Given the description of an element on the screen output the (x, y) to click on. 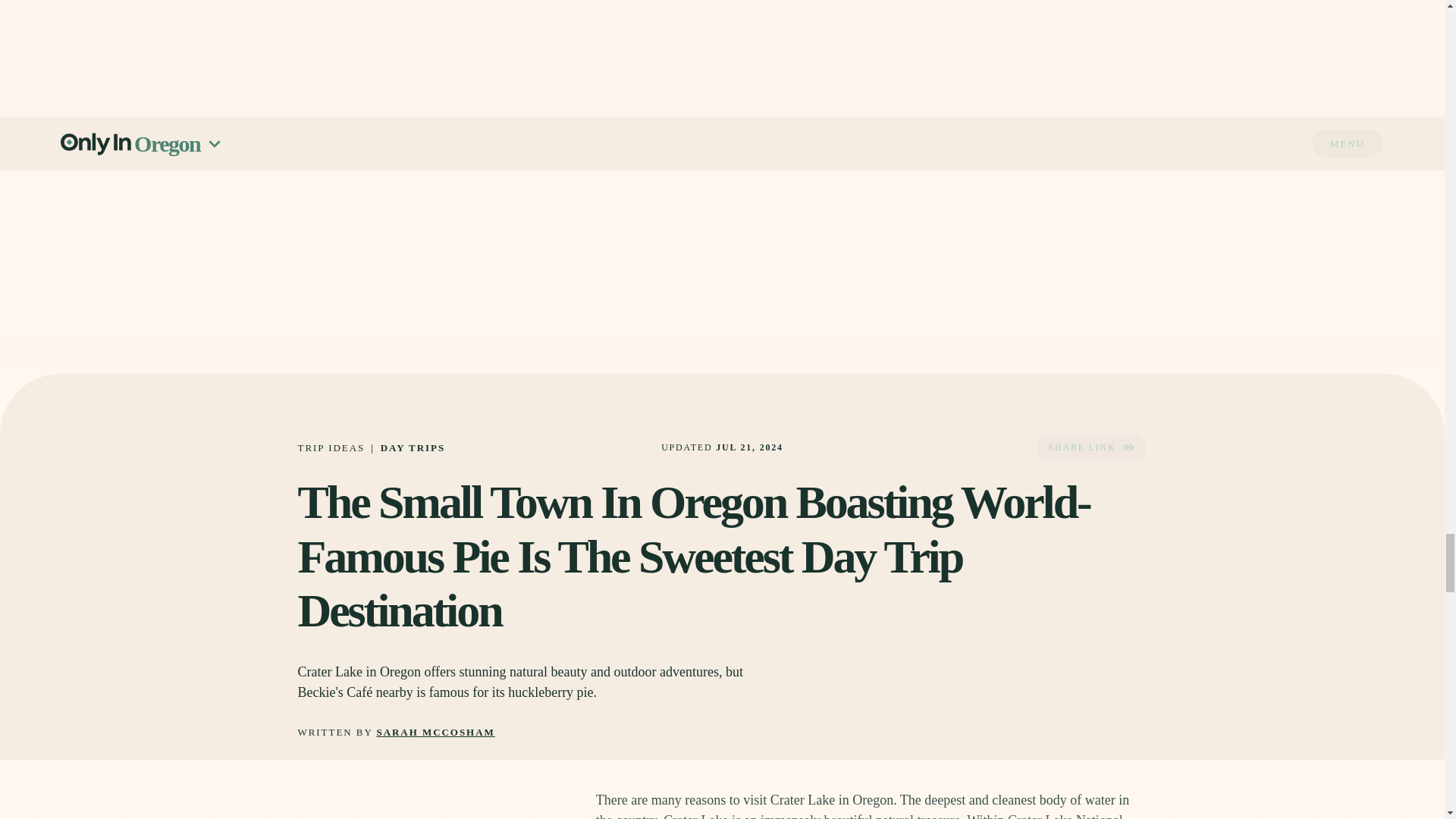
SARAH MCCOSHAM (436, 732)
TRIP IDEAS (331, 447)
DAY TRIPS (412, 447)
SUBSCRIBE (1075, 53)
SHARE LINK (1091, 447)
CHOOSE YOUR STATE (871, 12)
